Given the description of an element on the screen output the (x, y) to click on. 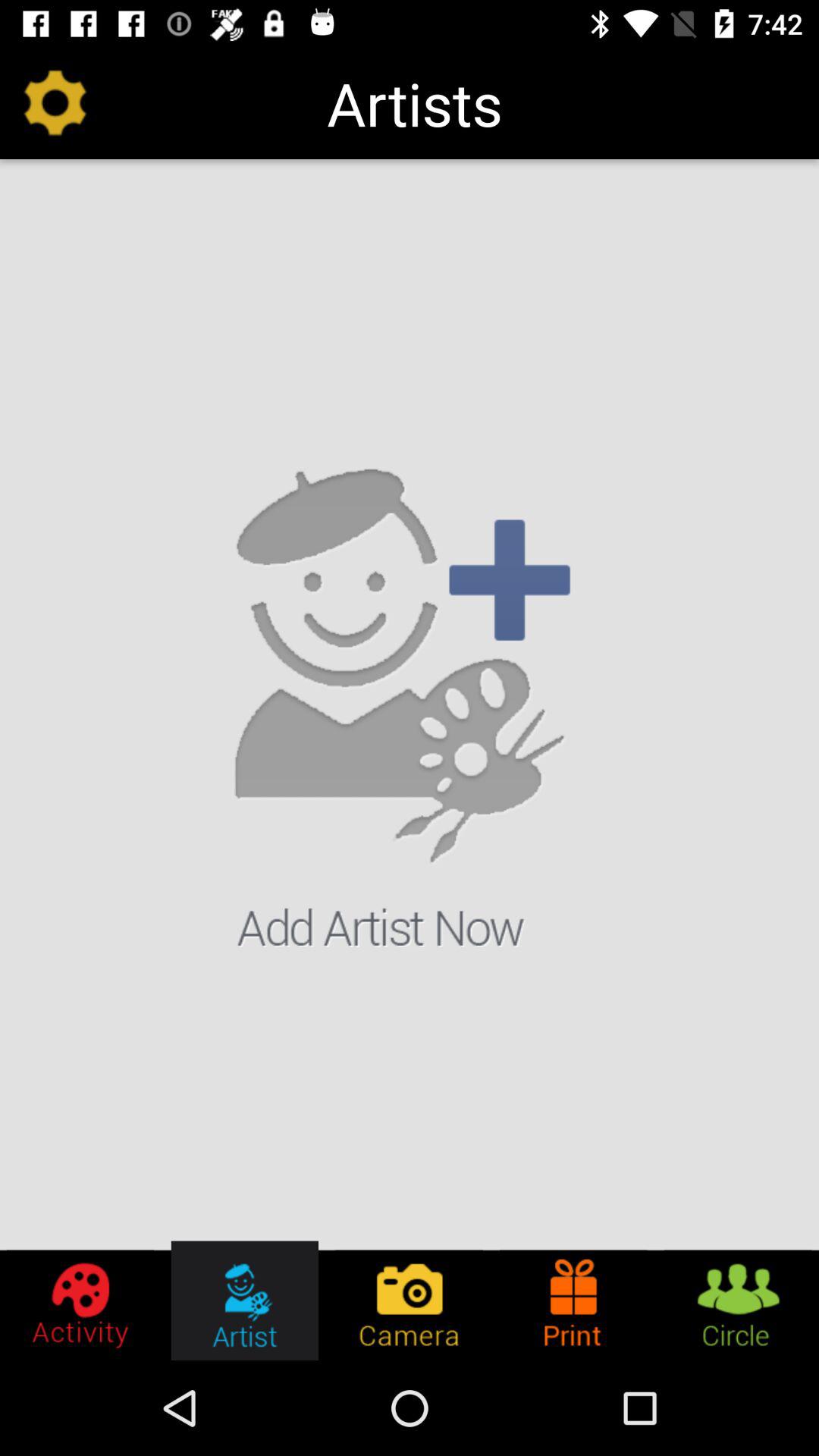
open icon at the center (409, 707)
